Given the description of an element on the screen output the (x, y) to click on. 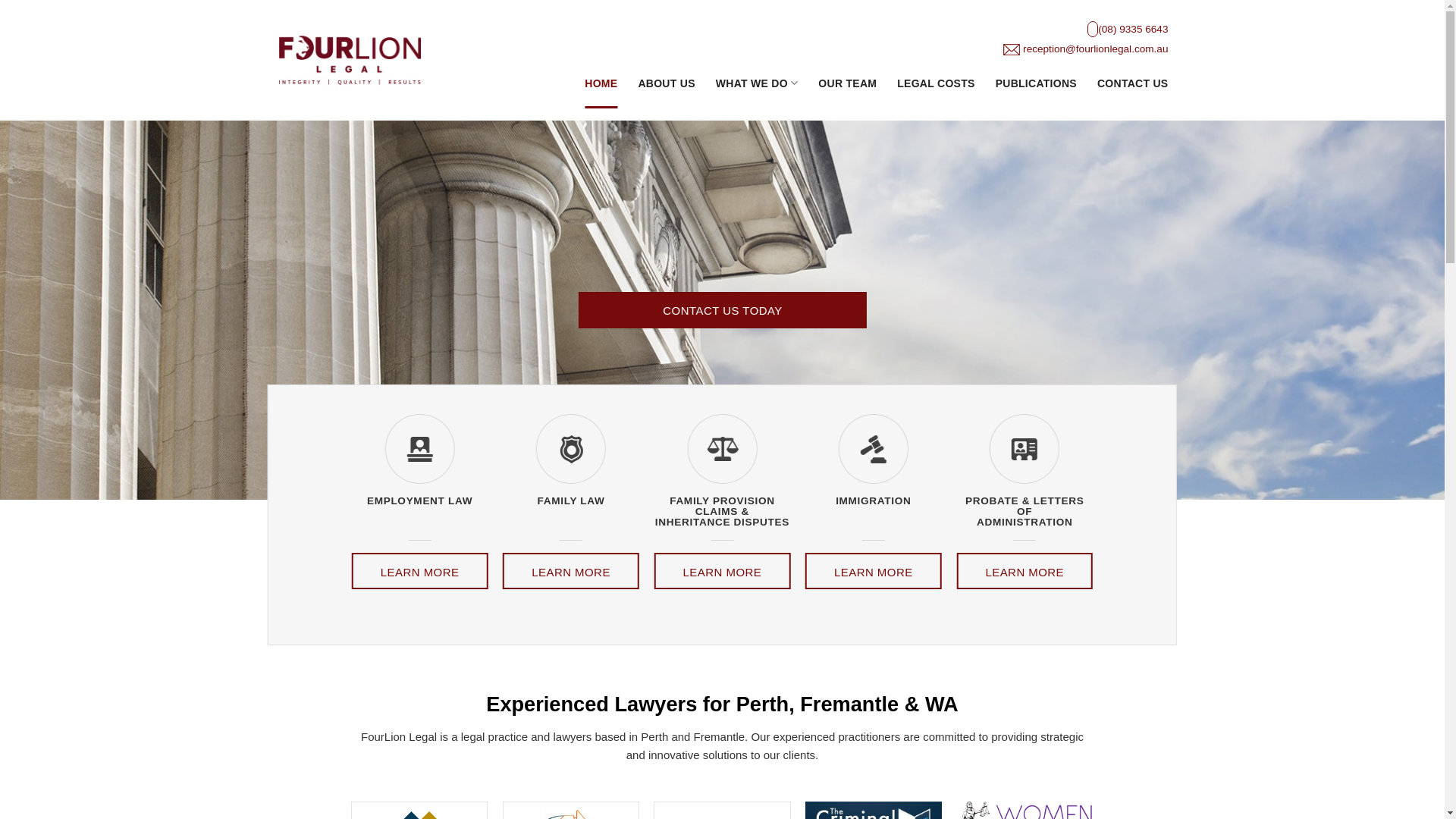
LEARN MORE Element type: text (722, 570)
CONTACT US TODAY Element type: text (721, 309)
LEARN MORE Element type: text (570, 570)
PUBLICATIONS Element type: text (1035, 82)
OUR TEAM Element type: text (847, 82)
LEARN MORE Element type: text (419, 570)
CONTACT US Element type: text (1132, 82)
LEARN MORE Element type: text (873, 570)
HOME Element type: text (600, 82)
WHAT WE DO Element type: text (756, 82)
LEARN MORE Element type: text (1024, 570)
reception@fourlionlegal.com.au Element type: text (1094, 48)
(08) 9335 6643 Element type: text (1132, 28)
ABOUT US Element type: text (665, 82)
LEGAL COSTS Element type: text (935, 82)
